Given the description of an element on the screen output the (x, y) to click on. 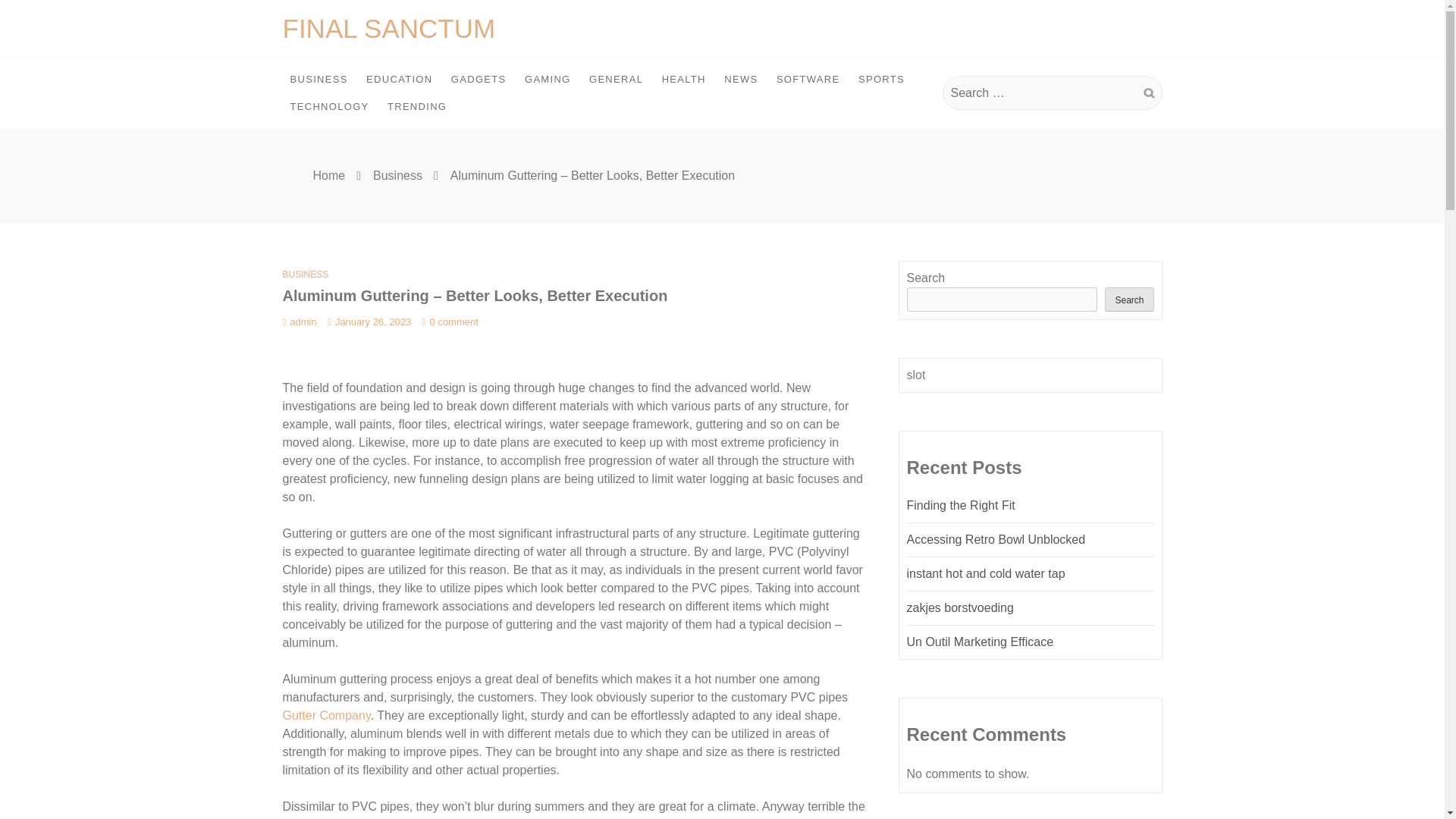
TECHNOLOGY (328, 105)
Home (329, 174)
Search (1129, 299)
TRENDING (417, 105)
SOFTWARE (807, 79)
SPORTS (881, 79)
Gutter Company (325, 715)
NEWS (740, 79)
FINAL SANCTUM (388, 28)
BUSINESS (318, 79)
Business (397, 174)
BUSINESS (305, 274)
Search (1148, 93)
instant hot and cold water tap (986, 573)
January 26, 2023 (368, 321)
